Given the description of an element on the screen output the (x, y) to click on. 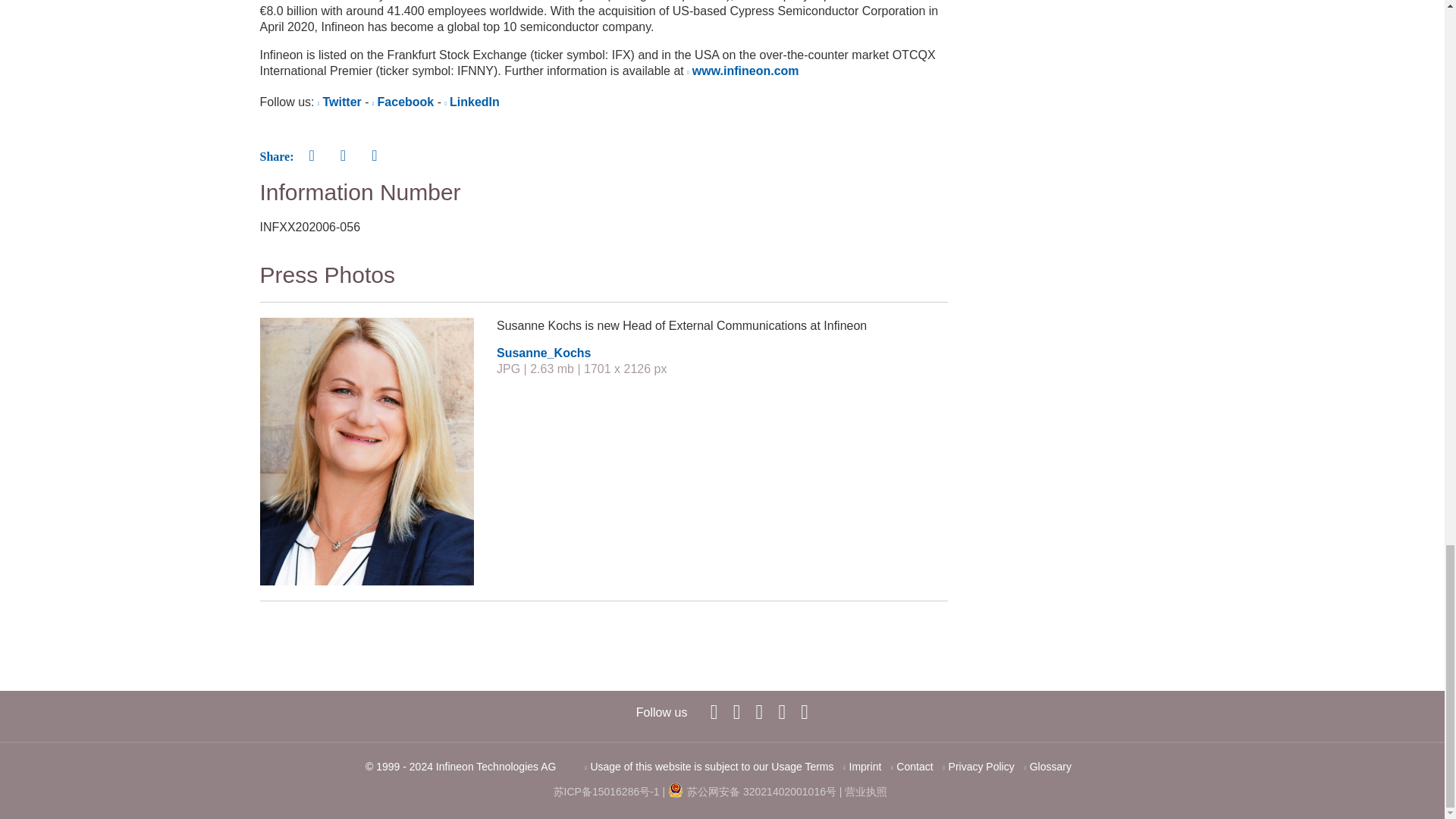
LinkedIn (736, 710)
Share this page on Twitter (374, 155)
Infineon (714, 710)
Share this page on Facebook (311, 155)
Infineon (759, 710)
Instagram (804, 710)
Share this page on LinkedIn (343, 155)
Infineon (781, 710)
